Given the description of an element on the screen output the (x, y) to click on. 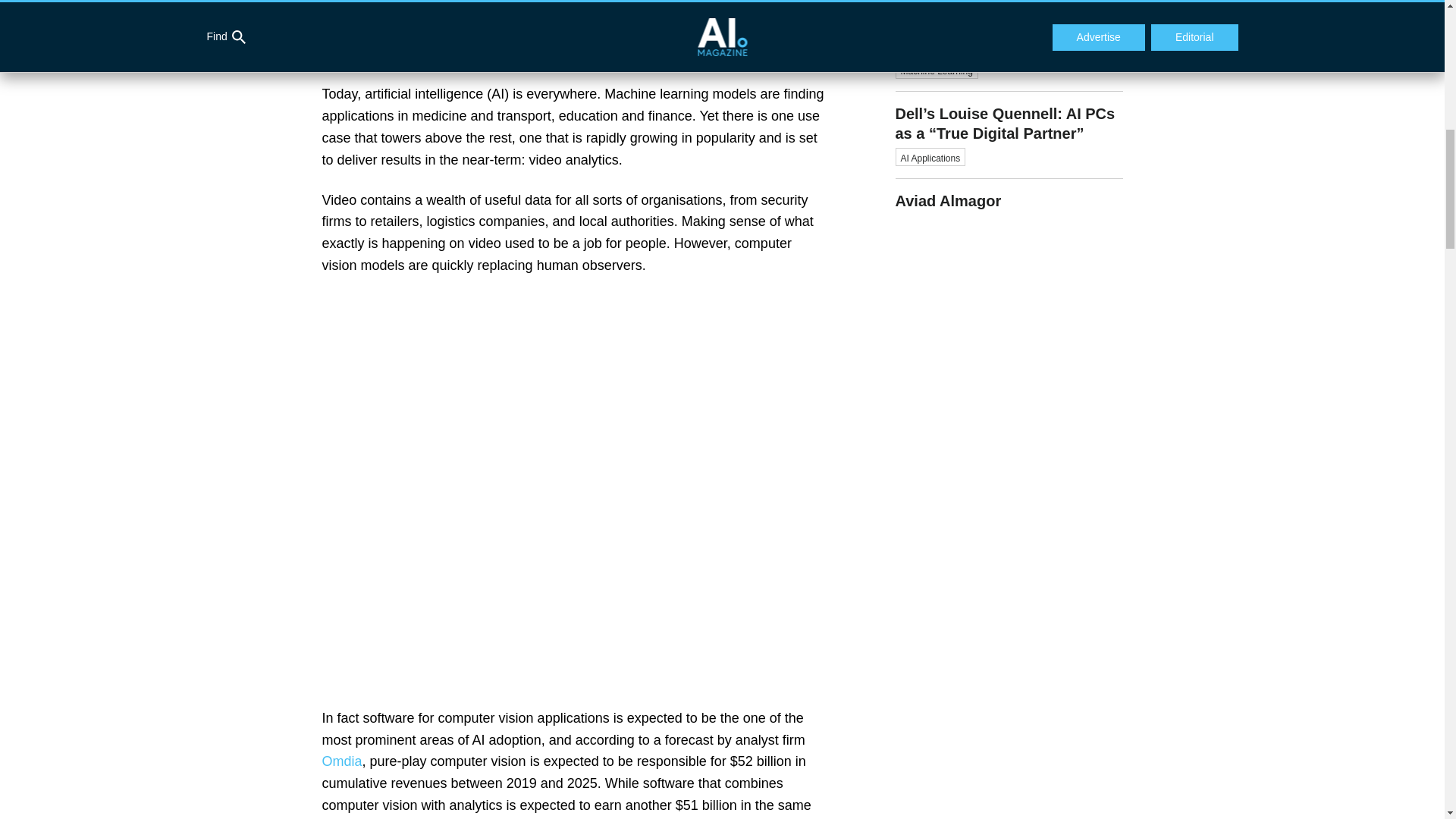
Omdia (341, 761)
Aviad Almagor (1008, 194)
